Given the description of an element on the screen output the (x, y) to click on. 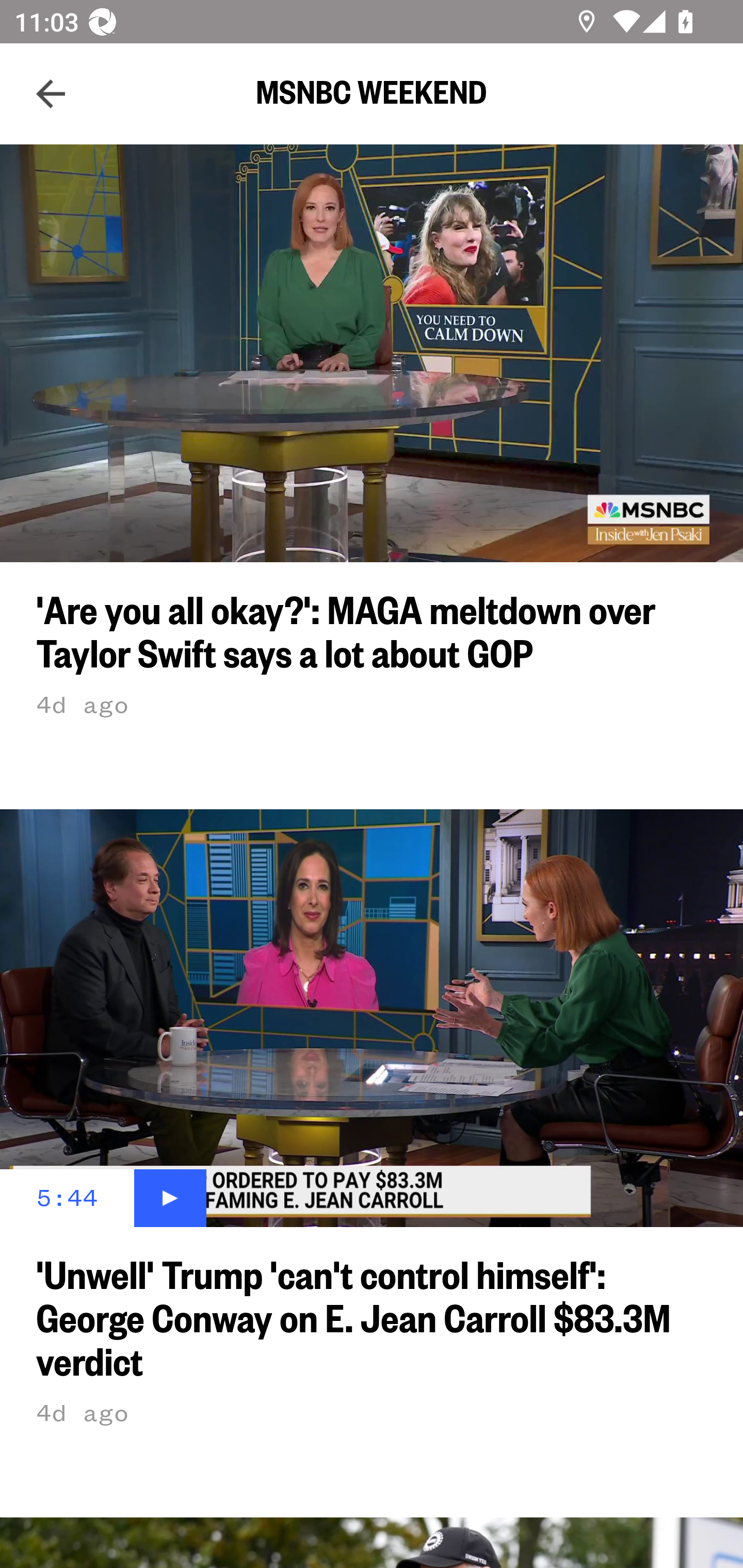
Navigate up (50, 93)
